Given the description of an element on the screen output the (x, y) to click on. 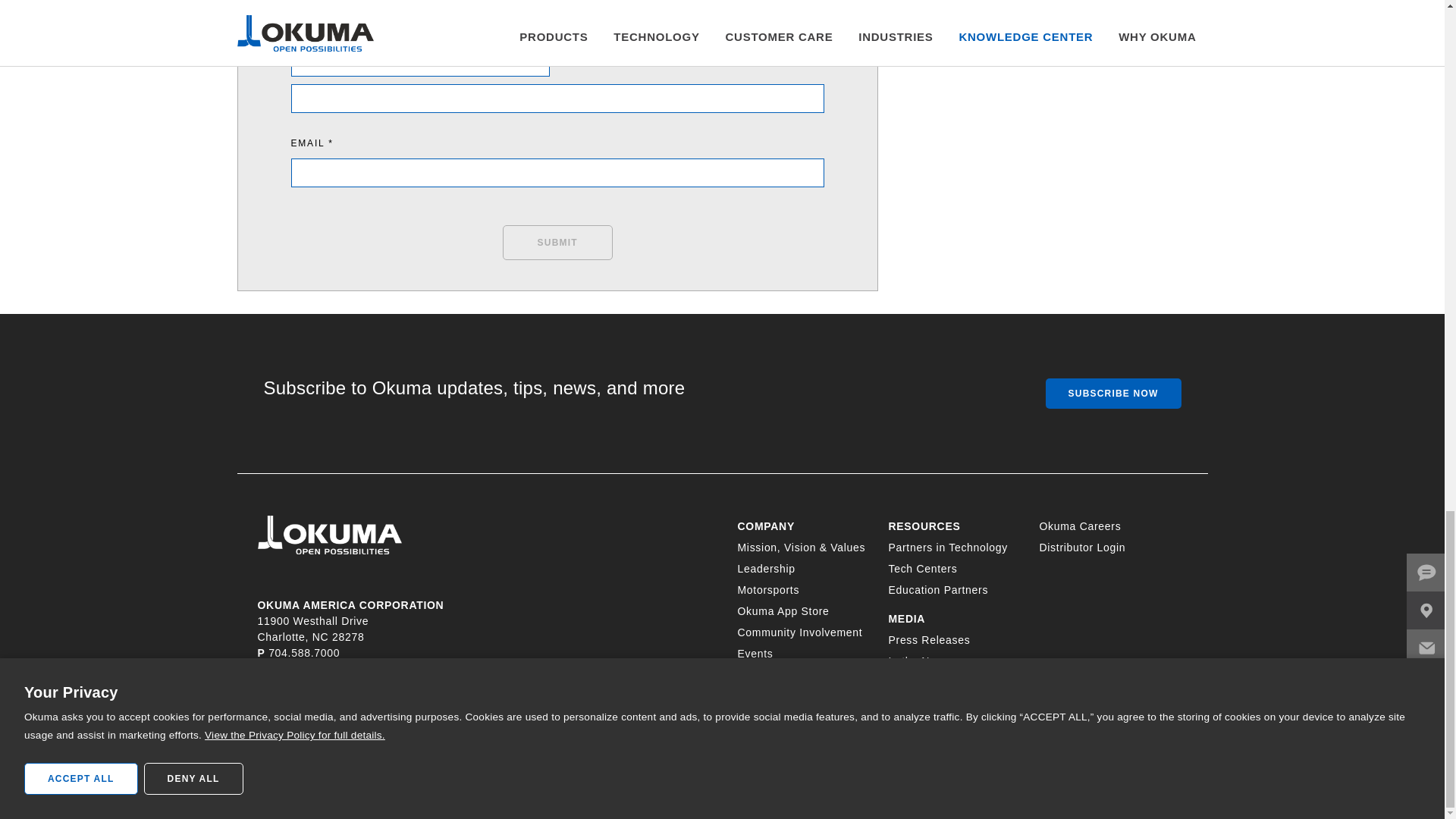
Required (557, 142)
Required (420, 32)
Required (557, 9)
